Given the description of an element on the screen output the (x, y) to click on. 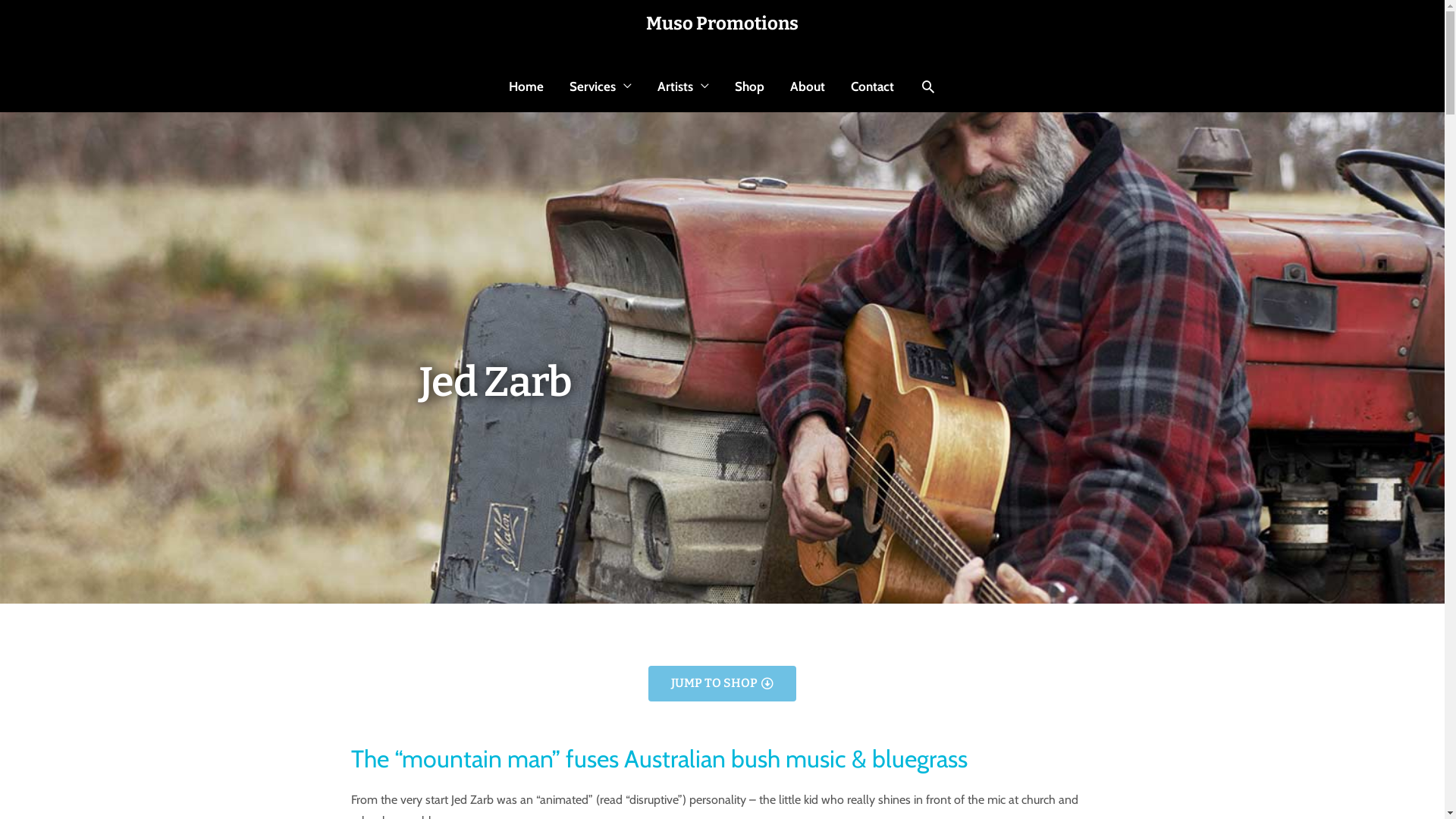
Artists Element type: text (682, 86)
Contact Element type: text (871, 86)
Muso Promotions Element type: text (722, 23)
Home Element type: text (525, 86)
Services Element type: text (600, 86)
Shop Element type: text (749, 86)
JUMP TO SHOP Element type: text (722, 683)
About Element type: text (806, 86)
